Given the description of an element on the screen output the (x, y) to click on. 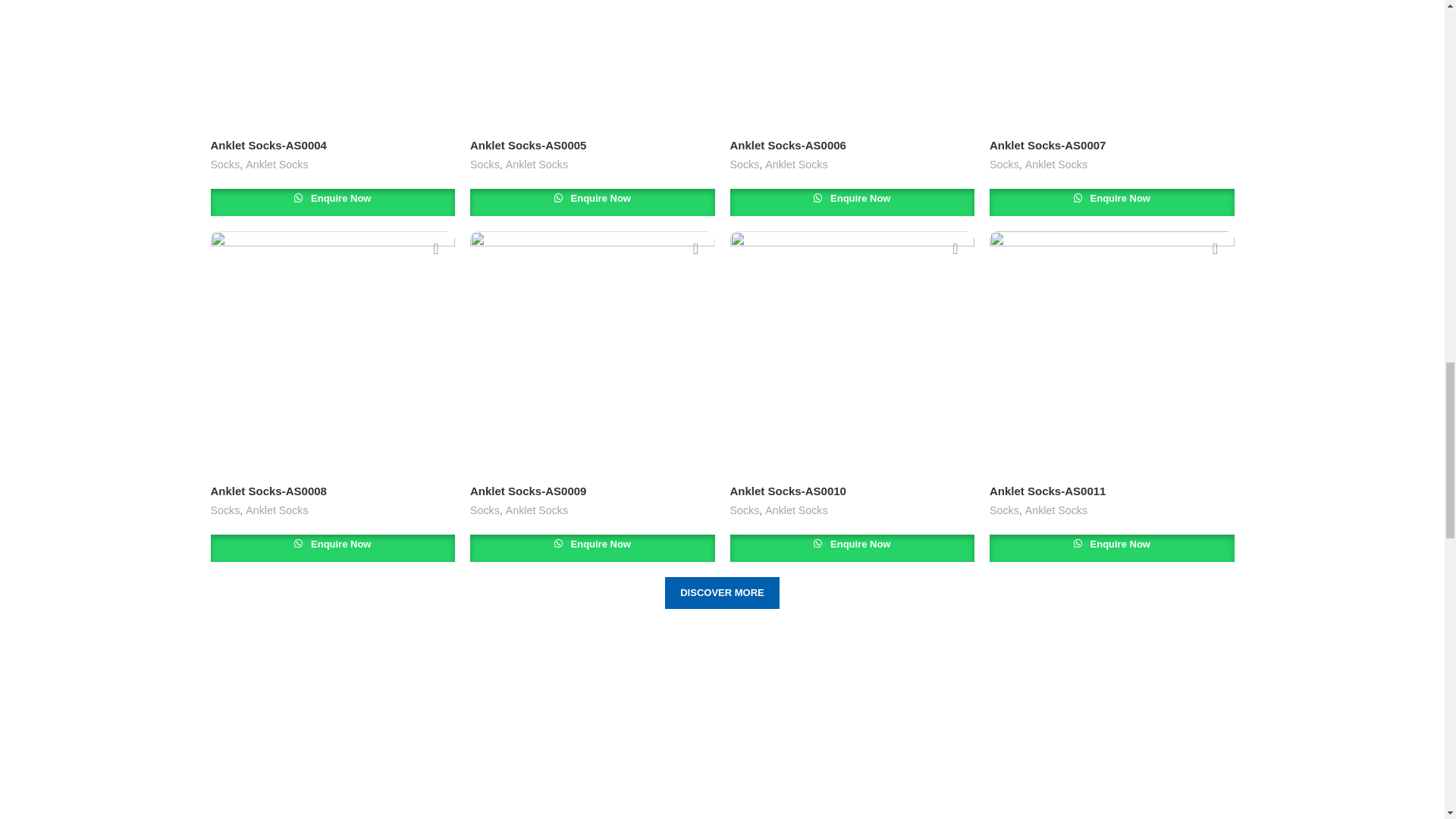
Complete order on WhatsApp to buy Anklet Socks-AS0004 (333, 202)
Complete order on WhatsApp to buy Anklet Socks-AS0005 (592, 202)
Complete order on WhatsApp to buy Anklet Socks-AS0006 (851, 202)
